Given the description of an element on the screen output the (x, y) to click on. 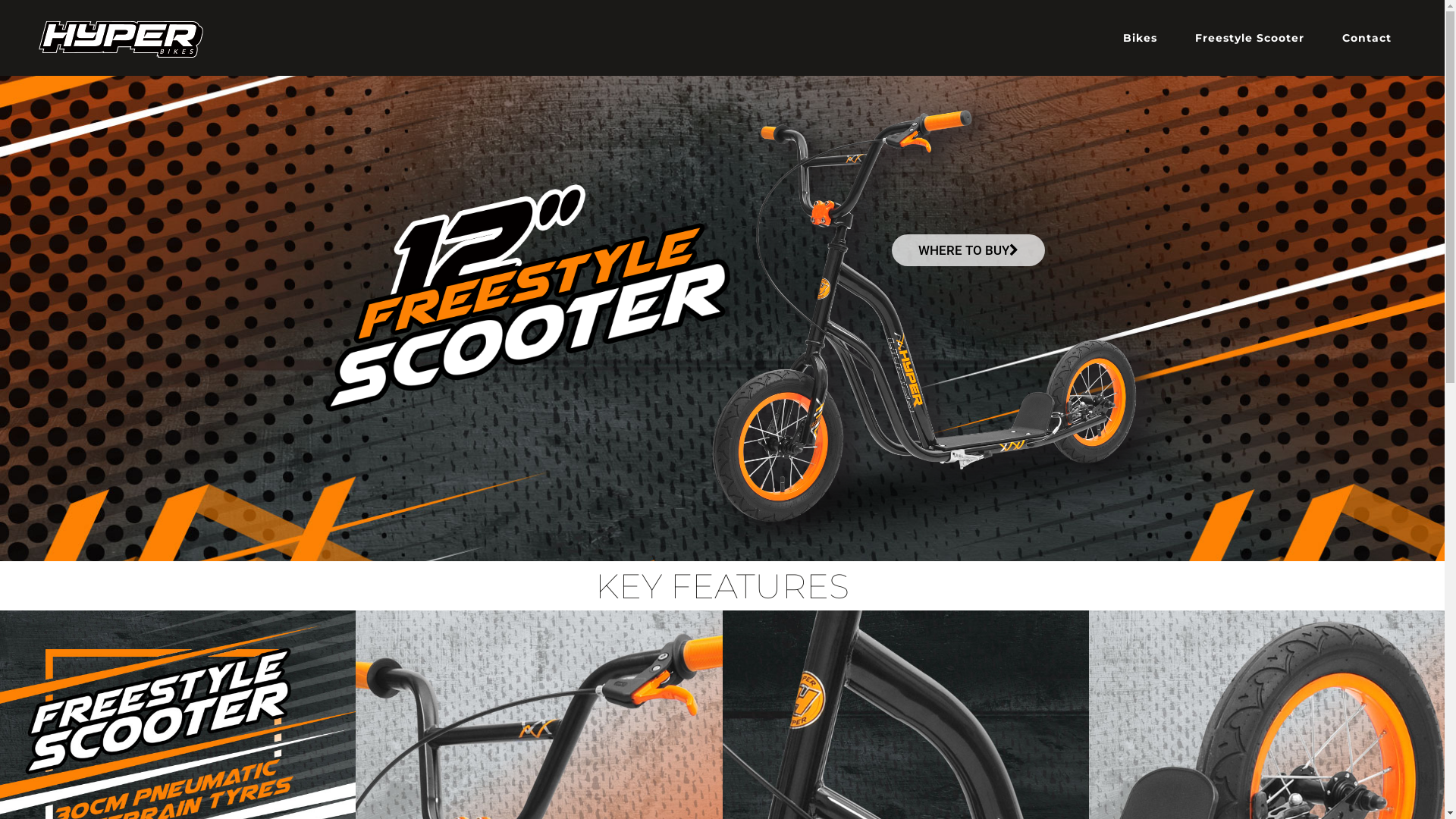
Bikes Element type: text (1140, 37)
Contact Element type: text (1366, 37)
Freestyle Scooter Element type: text (1249, 37)
